Given the description of an element on the screen output the (x, y) to click on. 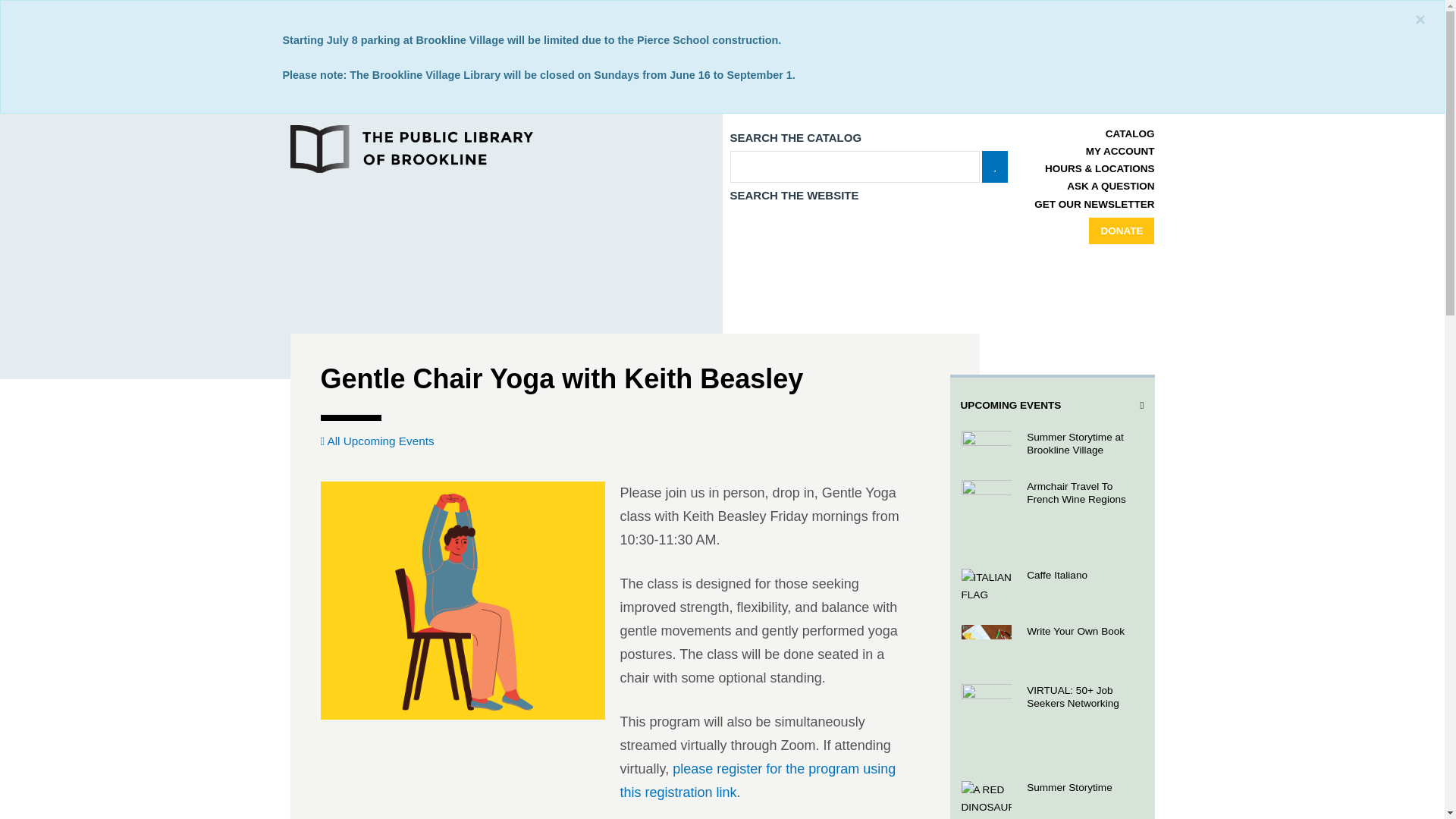
All Upcoming Events (376, 440)
MY ACCOUNT (1120, 151)
Caffe Italiano (1051, 586)
CATALOG (1129, 133)
GET OUR NEWSLETTER (1093, 204)
DONATE (1121, 230)
ASK A QUESTION (1110, 185)
please register for the program using this registration link (758, 780)
Armchair Travel To French Wine Regions (1051, 513)
Summer Storytime at Brookline Village (1051, 444)
